Given the description of an element on the screen output the (x, y) to click on. 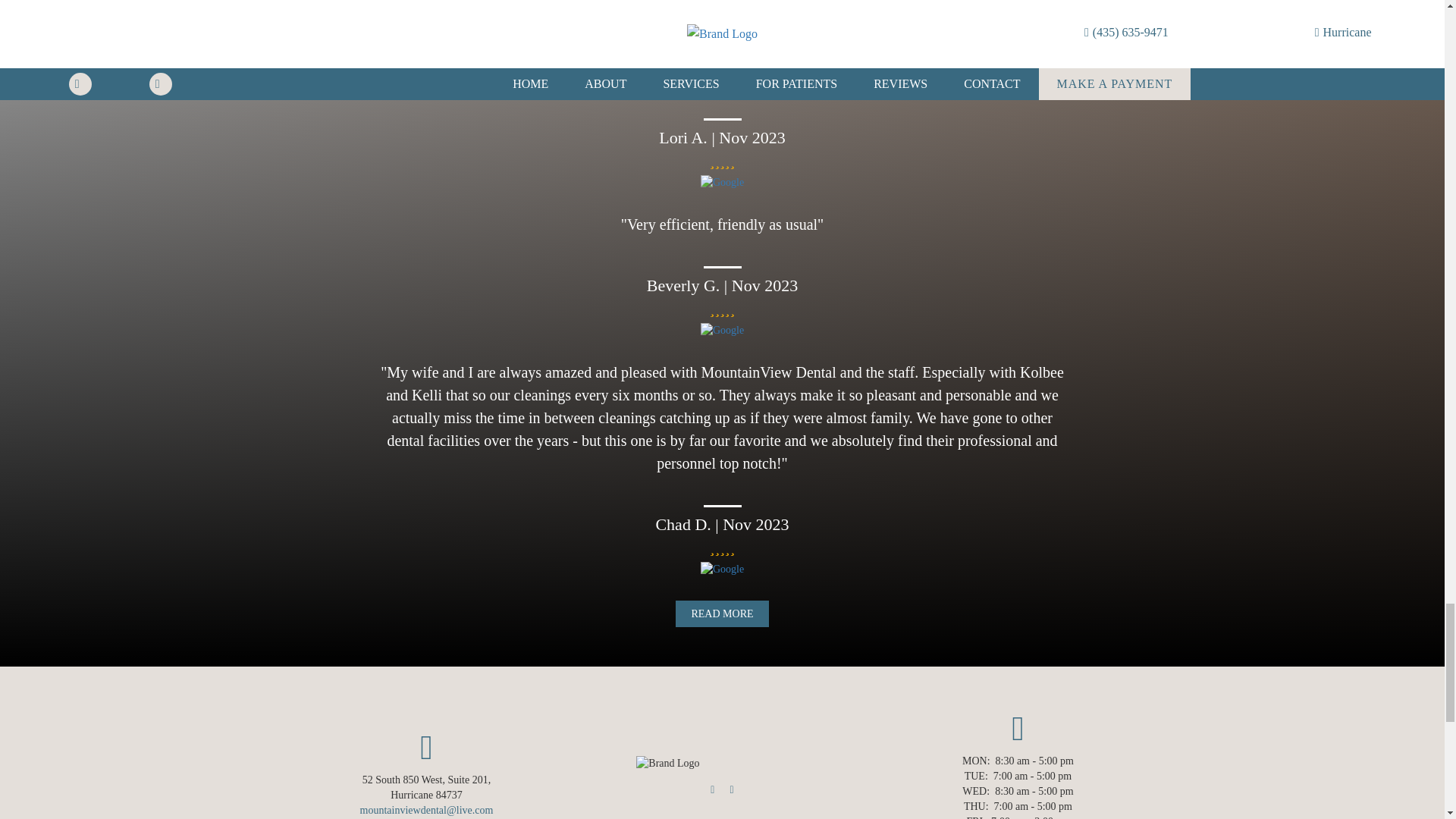
Google (722, 182)
Google (722, 569)
Google (722, 330)
Brand Logo (667, 763)
